Given the description of an element on the screen output the (x, y) to click on. 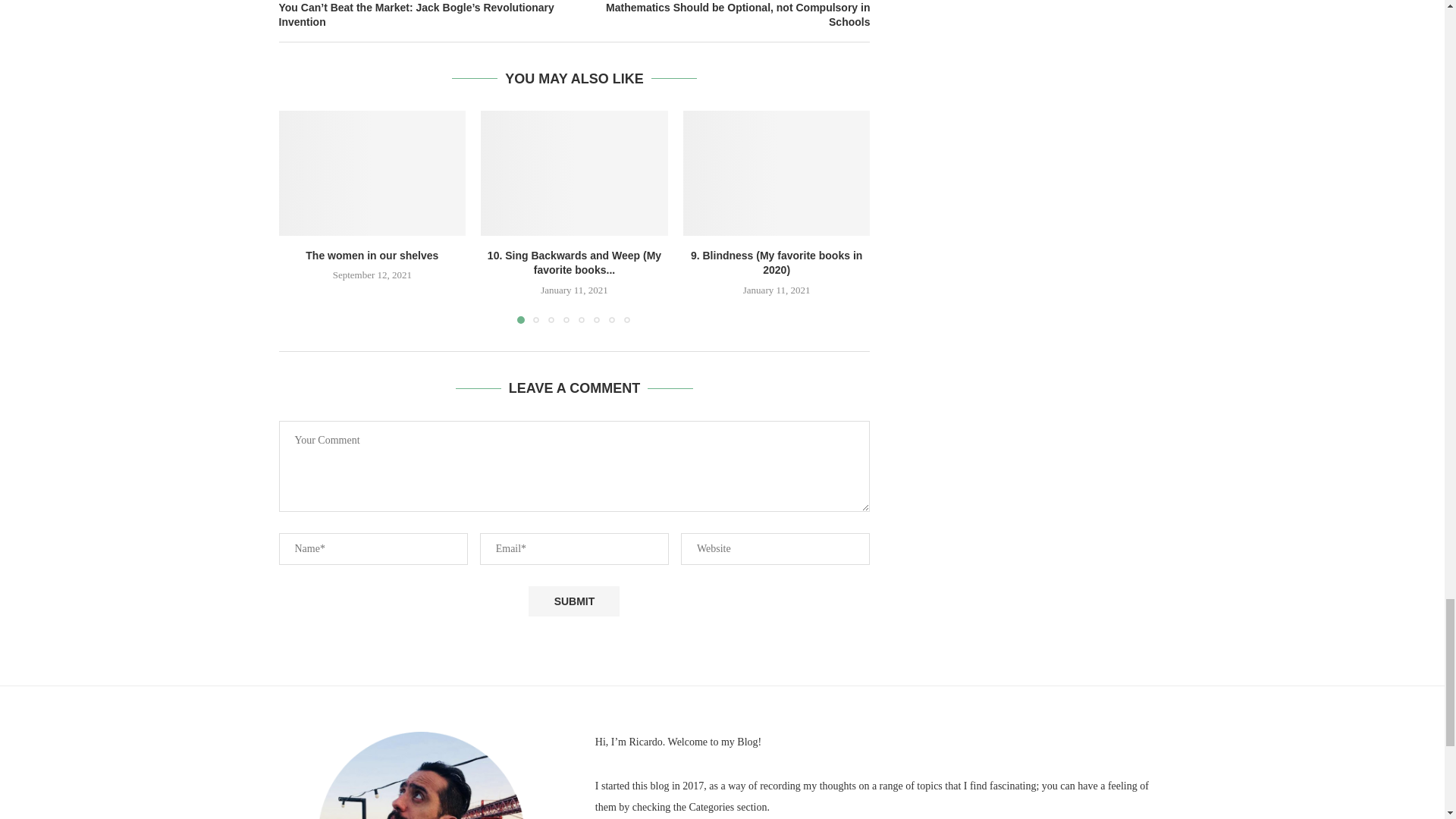
Submit (574, 601)
The women in our shelves (372, 172)
The women in our shelves (371, 255)
Mathematics Should be Optional, not Compulsory in Schools (722, 15)
